Given the description of an element on the screen output the (x, y) to click on. 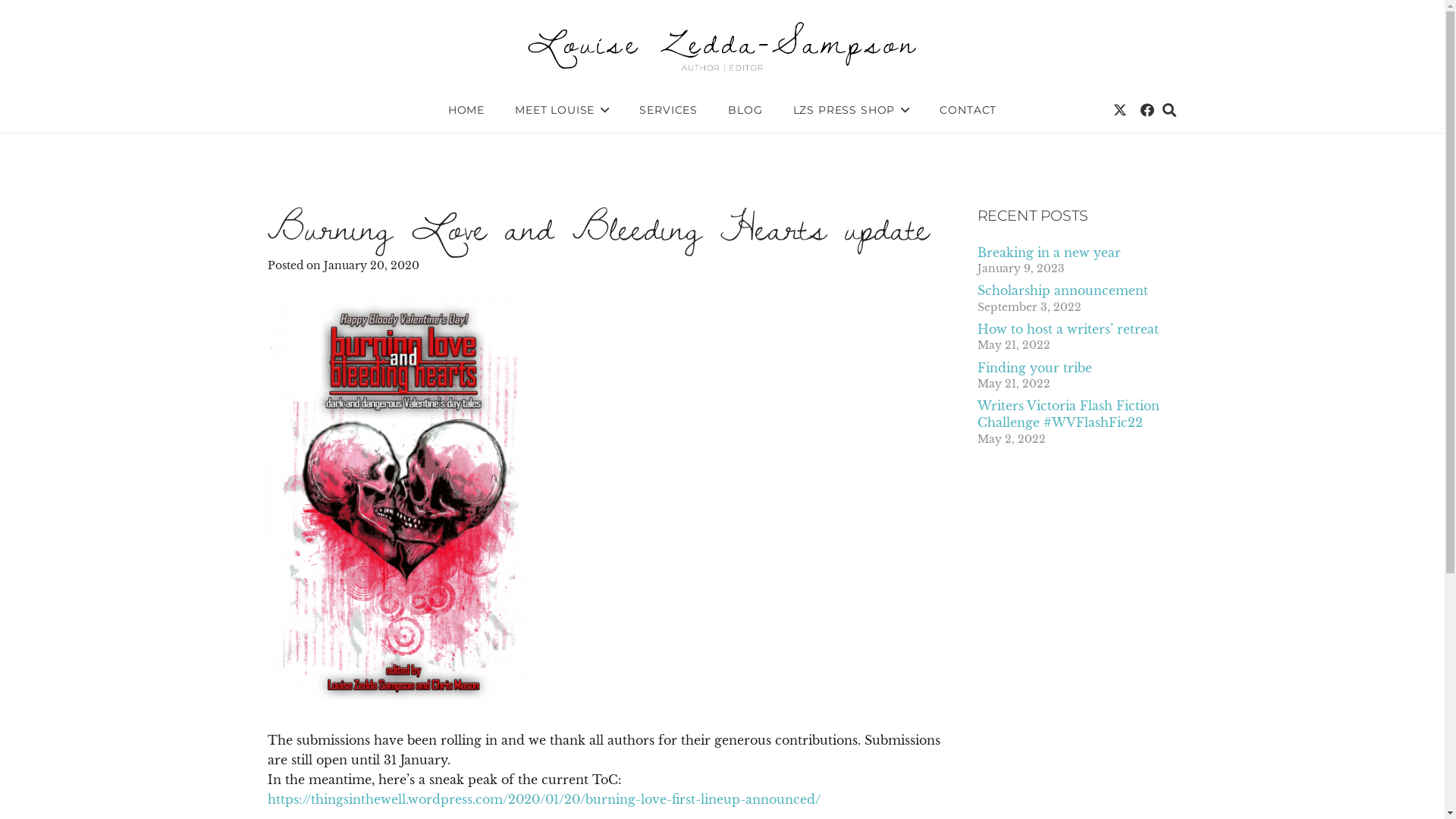
CONTACT Element type: text (967, 109)
HOME Element type: text (466, 109)
Writers Victoria Flash Fiction Challenge #WVFlashFic22 Element type: text (1067, 413)
LZS PRESS SHOP Element type: text (851, 109)
burning love and bleeding hearts Element type: hover (405, 499)
Scholarship announcement Element type: text (1061, 290)
Twitter Element type: hover (1119, 109)
BLOG Element type: text (744, 109)
Breaking in a new year Element type: text (1048, 252)
MEET LOUISE Element type: text (561, 109)
SERVICES Element type: text (668, 109)
Finding your tribe Element type: text (1033, 367)
Facebook Element type: hover (1147, 109)
